Given the description of an element on the screen output the (x, y) to click on. 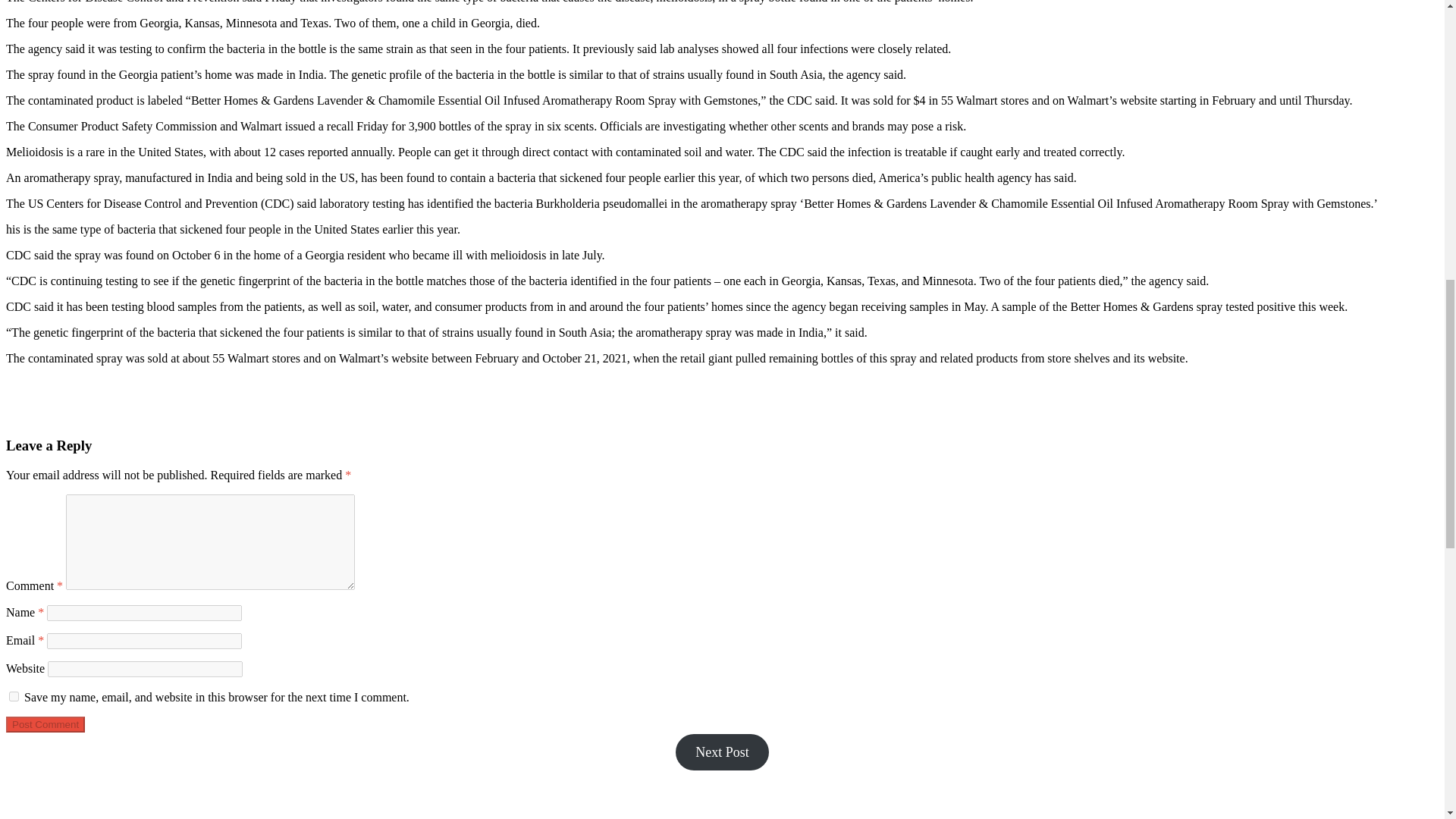
Post Comment (44, 724)
Post Comment (44, 724)
yes (13, 696)
Next Post (721, 751)
